Given the description of an element on the screen output the (x, y) to click on. 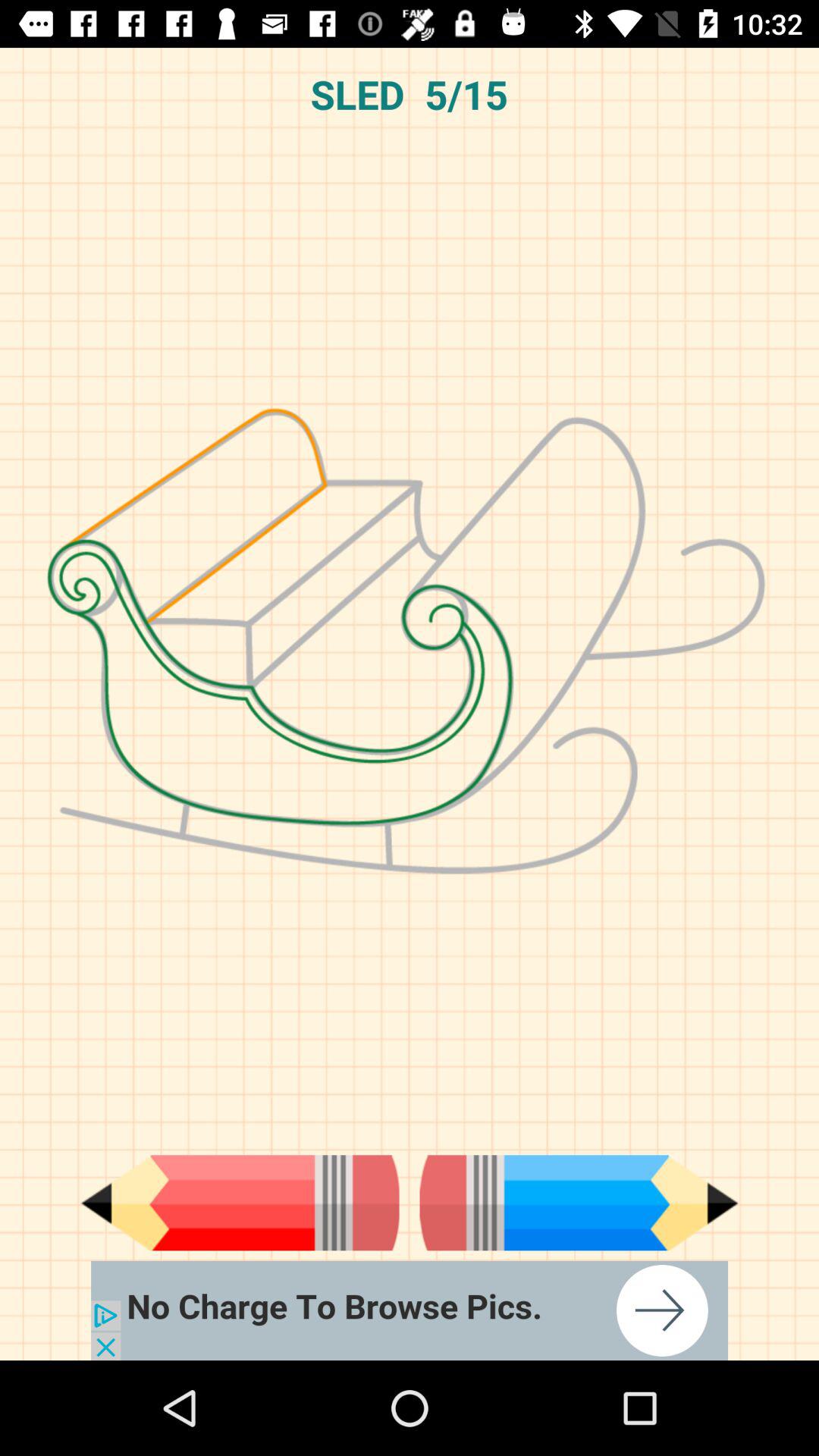
advertisement about browse pics (409, 1310)
